Given the description of an element on the screen output the (x, y) to click on. 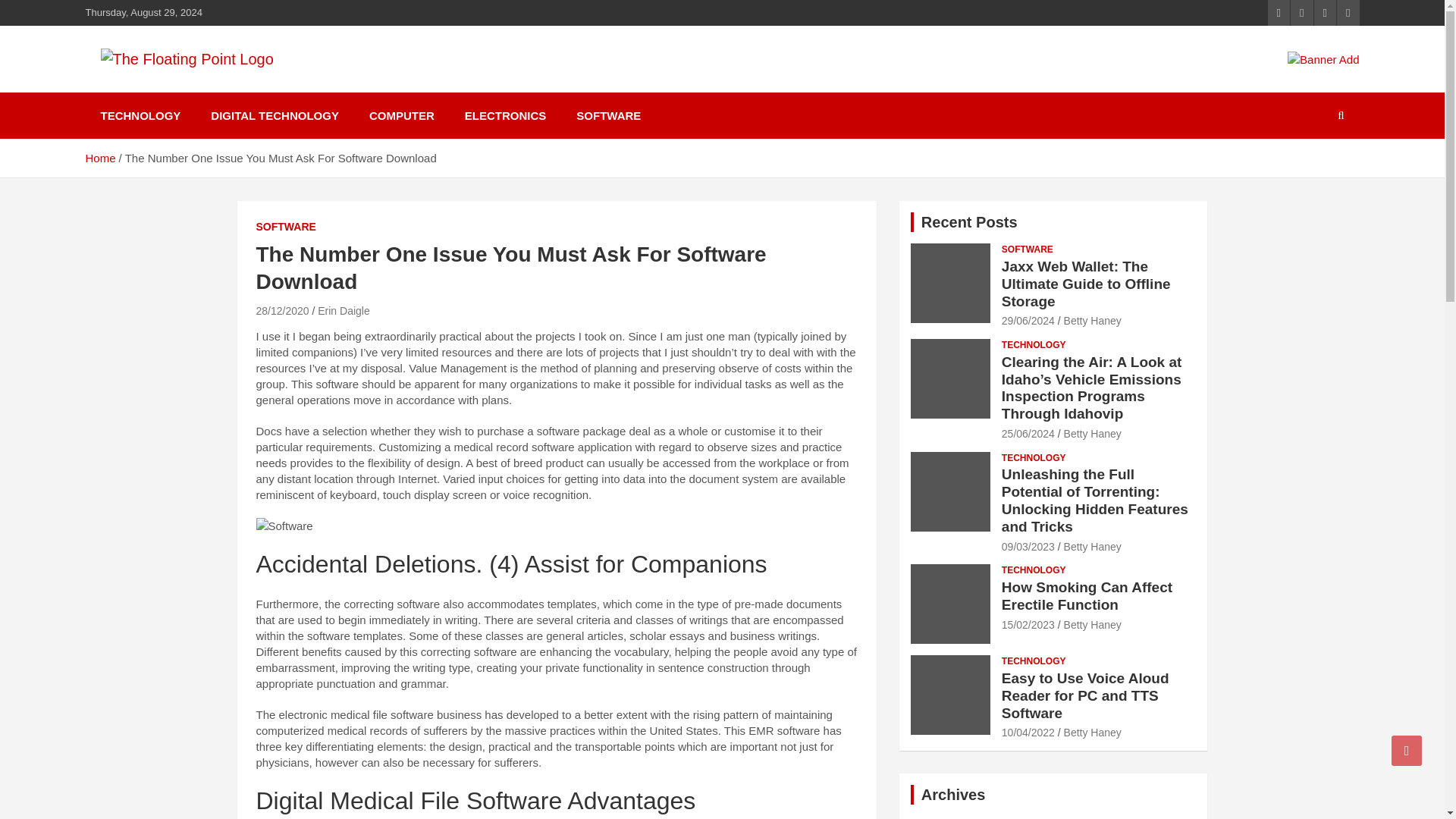
Easy to Use Voice Aloud Reader for PC and TTS Software (1027, 732)
Jaxx Web Wallet: The Ultimate Guide to Offline Storage (1085, 283)
ELECTRONICS (505, 115)
DIGITAL TECHNOLOGY (274, 115)
Betty Haney (1092, 320)
SOFTWARE (285, 227)
TECHNOLOGY (1033, 345)
Betty Haney (1092, 433)
